Given the description of an element on the screen output the (x, y) to click on. 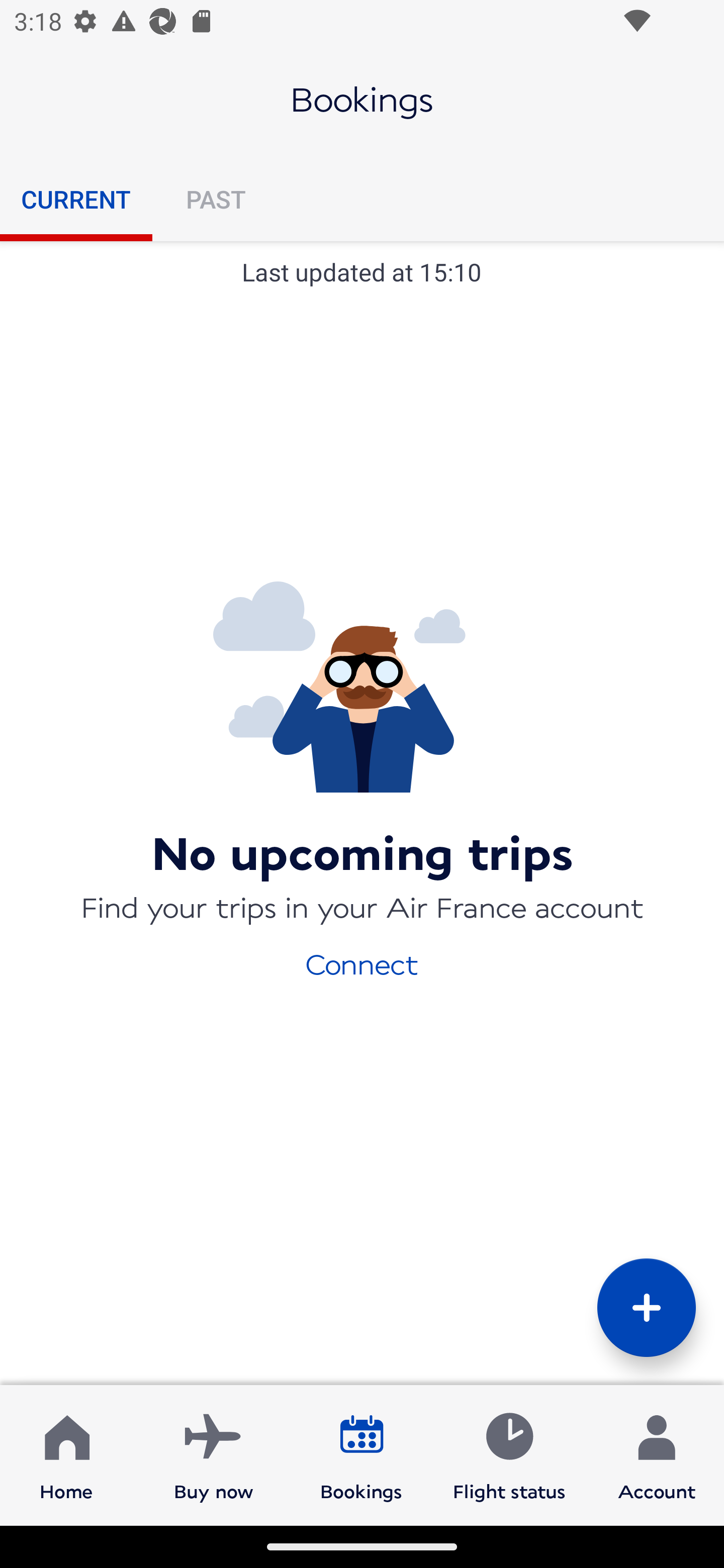
PAST (215, 198)
Connect (361, 963)
Home (66, 1454)
Buy now (213, 1454)
Flight status (509, 1454)
Account (657, 1454)
